Given the description of an element on the screen output the (x, y) to click on. 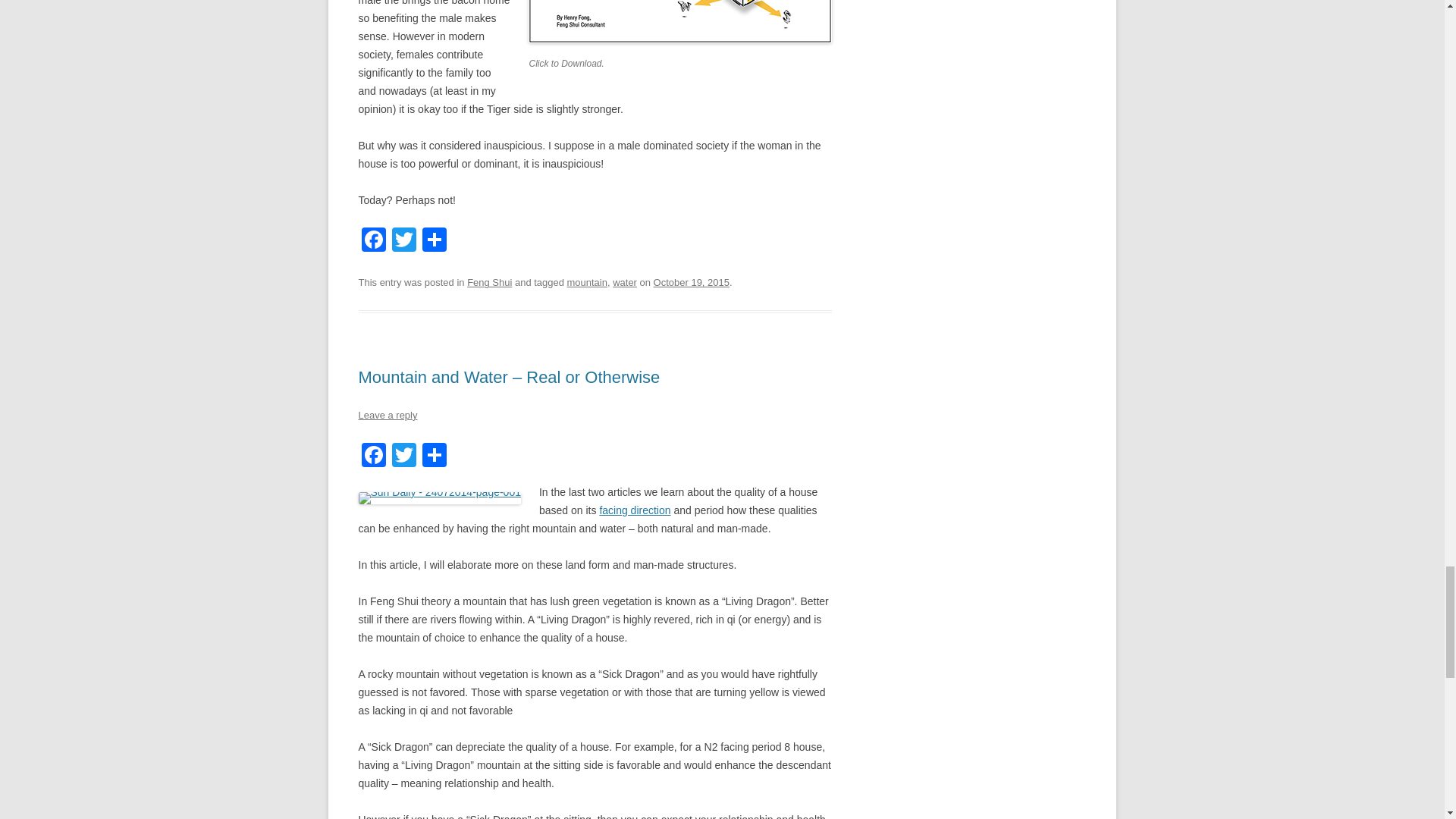
Twitter (403, 241)
Twitter (403, 241)
Share (433, 241)
Facebook (373, 241)
Facebook (373, 456)
October 19, 2015 (691, 282)
1:29 pm (691, 282)
Twitter (403, 456)
Feng Shui (489, 282)
water (624, 282)
Facebook (373, 241)
mountain (587, 282)
